Given the description of an element on the screen output the (x, y) to click on. 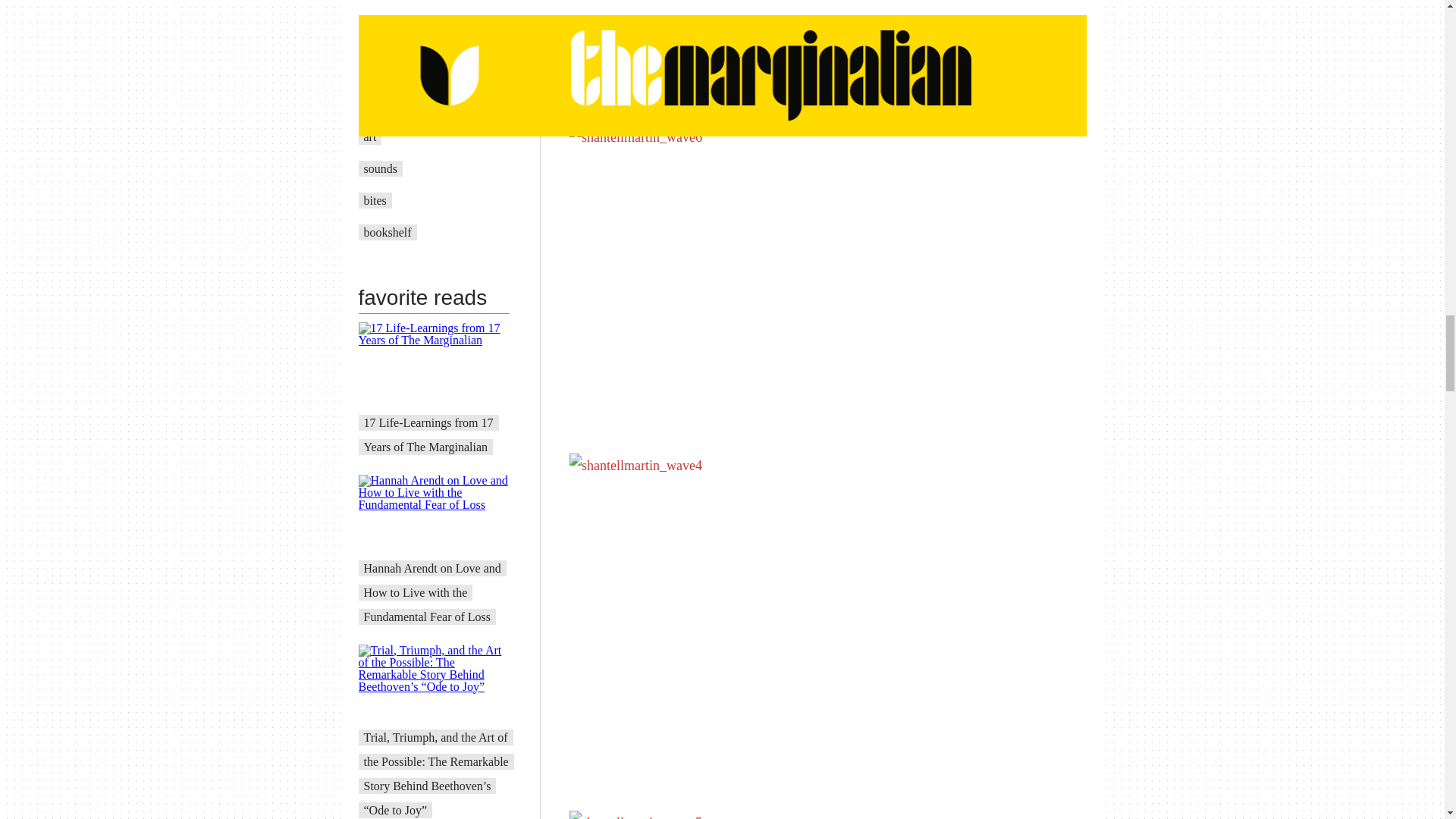
A Velocity of Being (412, 105)
sounds (380, 168)
bites (375, 200)
